Given the description of an element on the screen output the (x, y) to click on. 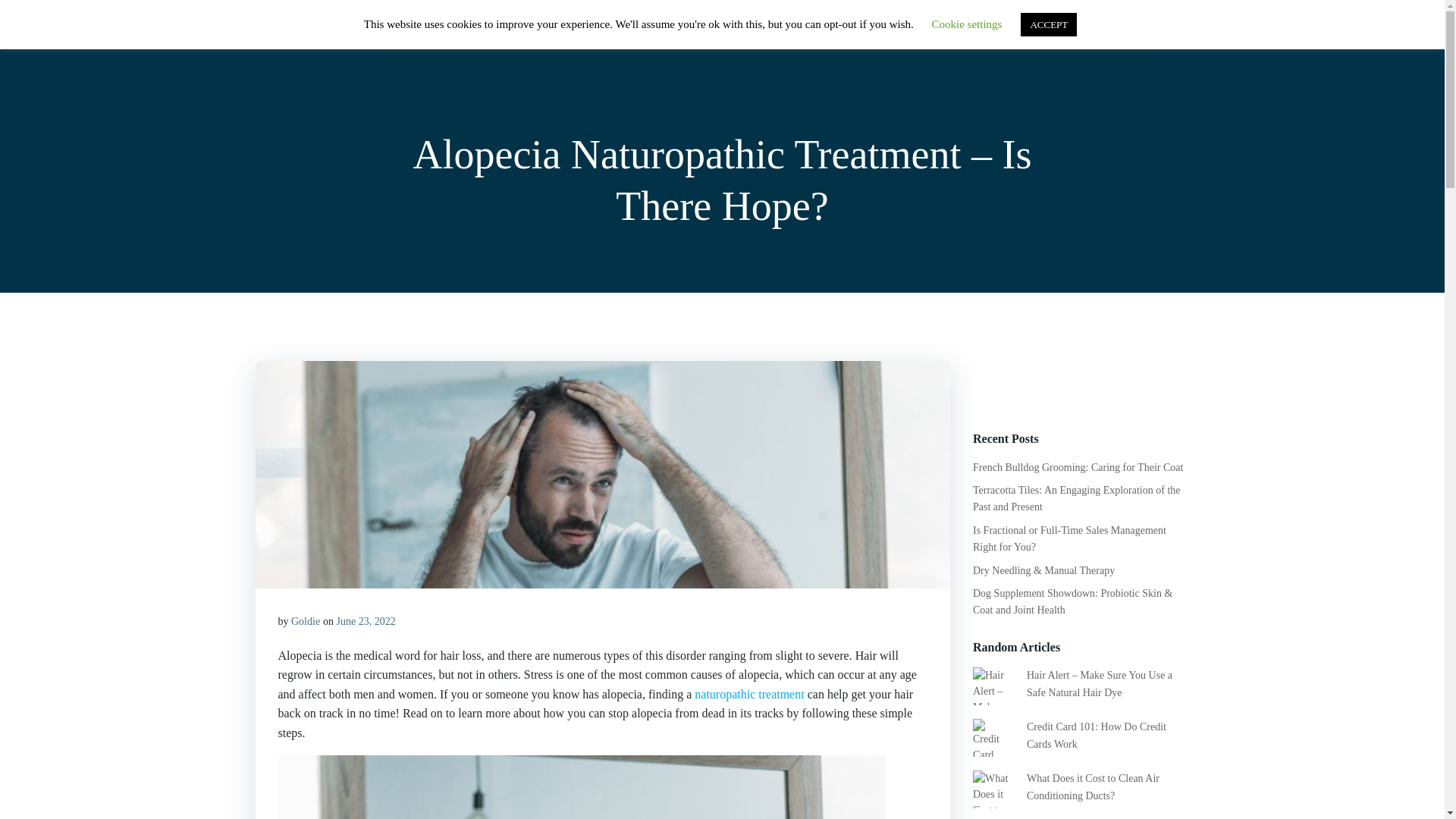
Goldie (305, 621)
Credit Card 101: How Do Credit Cards Work (1096, 735)
LOGIN (1088, 33)
June 23, 2022 (366, 621)
HOME (879, 33)
Is Fractional or Full-Time Sales Management Right for You? (1069, 538)
SHOP (942, 33)
LEGAL (1155, 33)
AD4SC (283, 33)
